Given the description of an element on the screen output the (x, y) to click on. 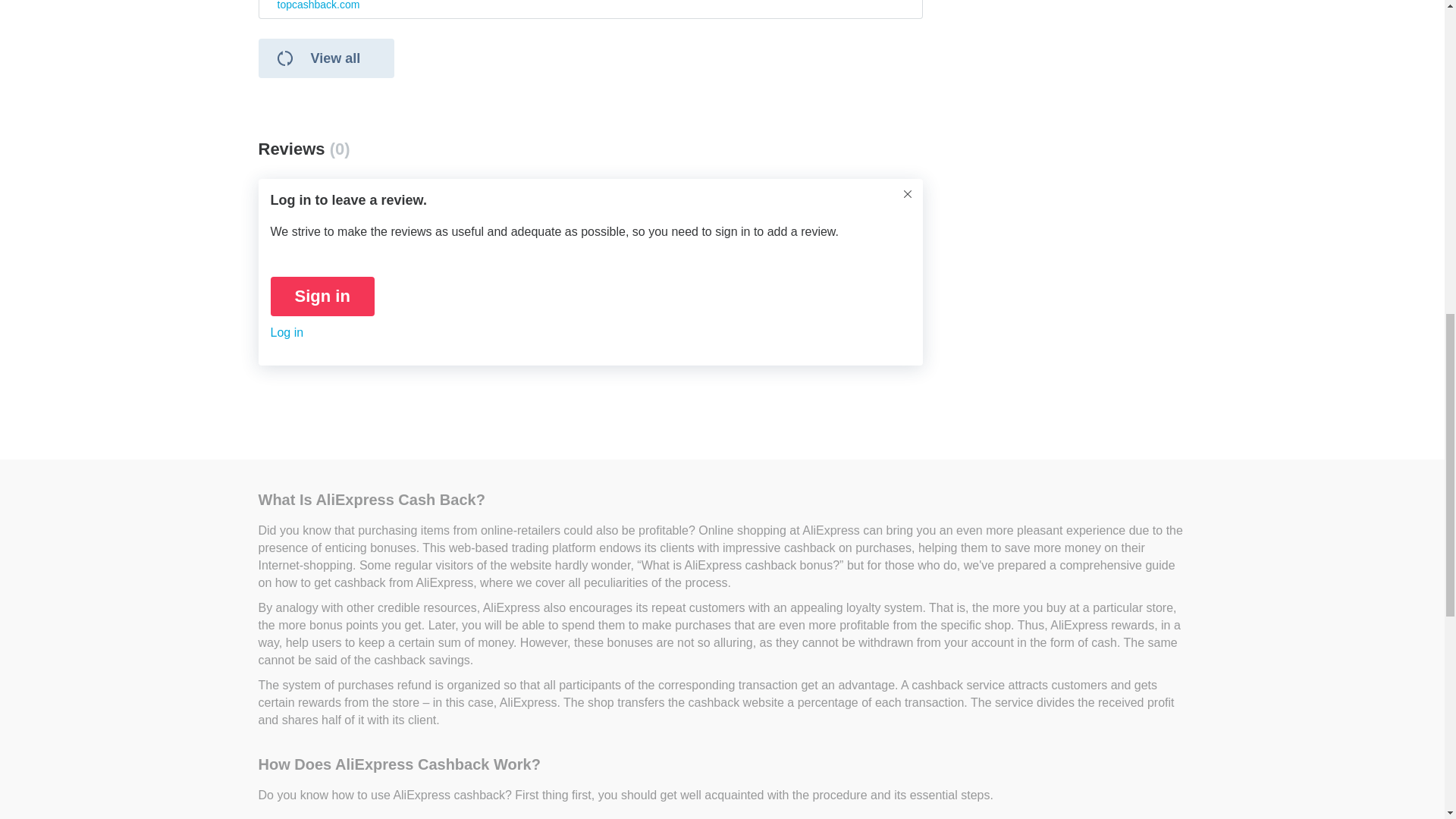
View all (325, 57)
Log in (285, 332)
Sign in (321, 296)
topcashback.com (318, 6)
